Given the description of an element on the screen output the (x, y) to click on. 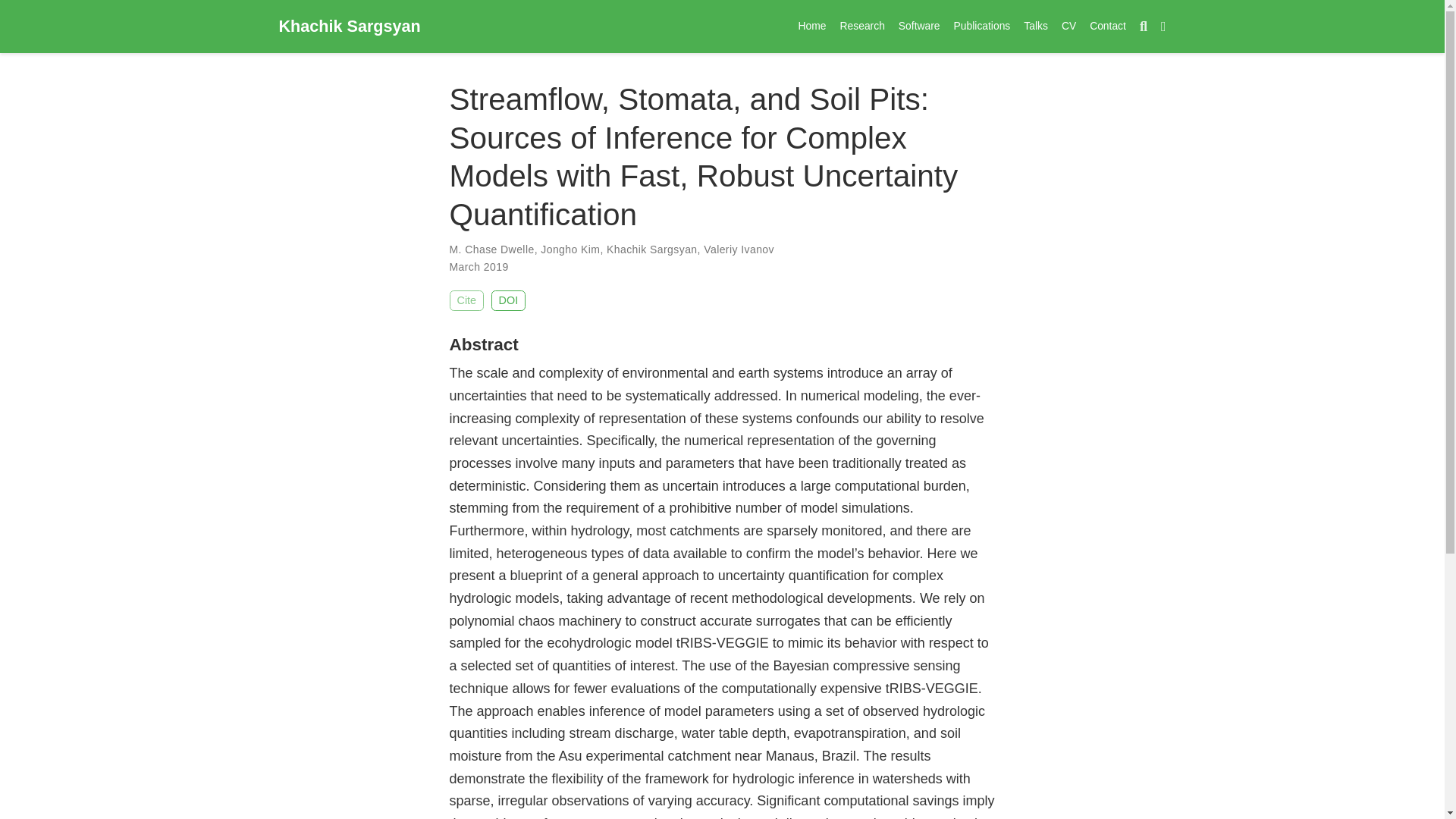
Research (861, 26)
Cite (465, 300)
DOI (508, 300)
Khachik Sargsyan (349, 26)
Publications (982, 26)
Software (919, 26)
CV (1068, 26)
Talks (1035, 26)
Home (812, 26)
Contact (1107, 26)
